Given the description of an element on the screen output the (x, y) to click on. 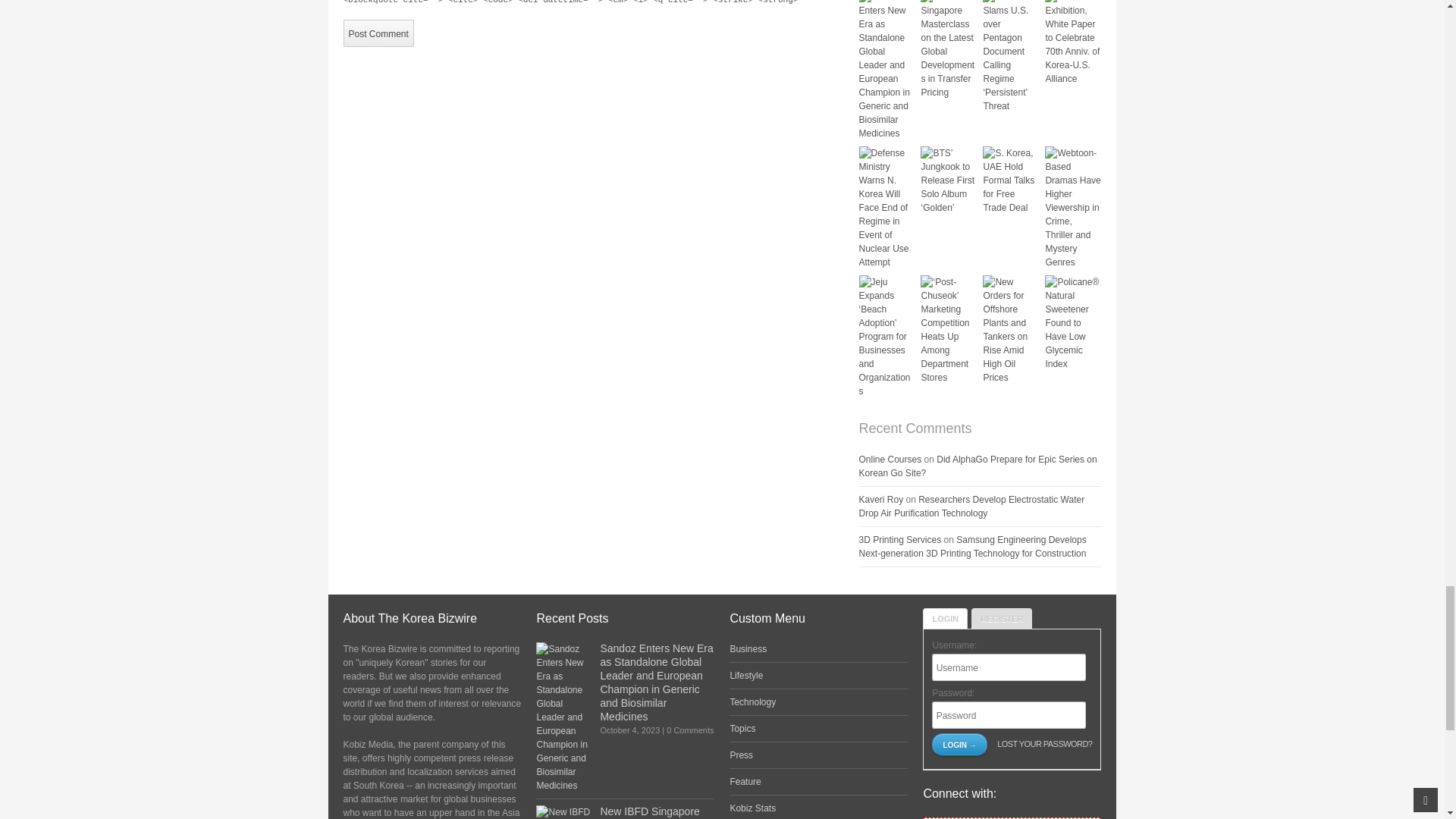
Post Comment (377, 32)
